Given the description of an element on the screen output the (x, y) to click on. 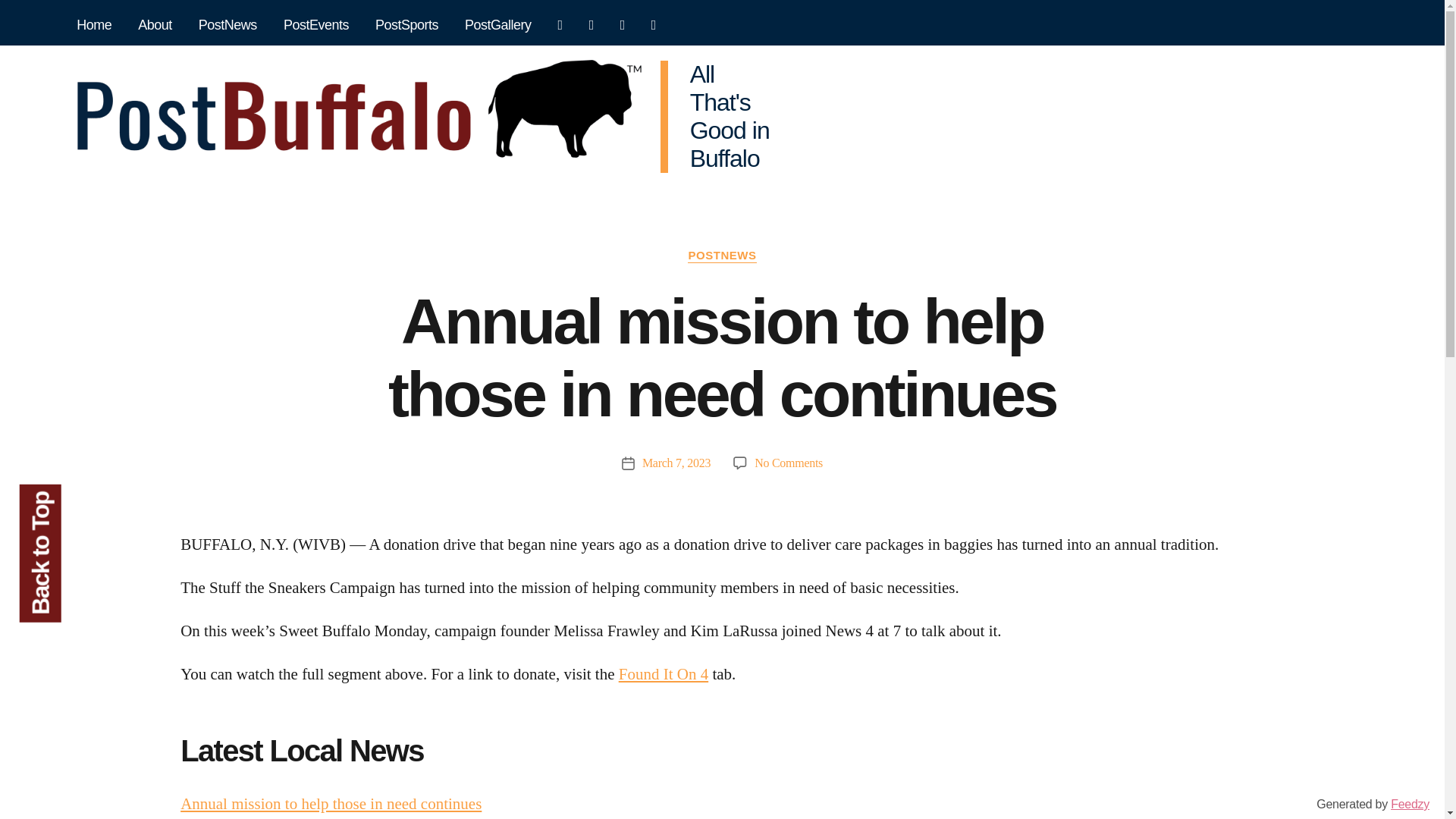
POSTNEWS (721, 255)
Found It On 4 (662, 674)
PostEvents (315, 25)
About (154, 25)
Back to Top (88, 504)
PostGallery (498, 25)
PostSports (406, 25)
Annual mission to help those in need continues (330, 803)
Home (93, 25)
PostNews (227, 25)
March 7, 2023 (676, 462)
